Given the description of an element on the screen output the (x, y) to click on. 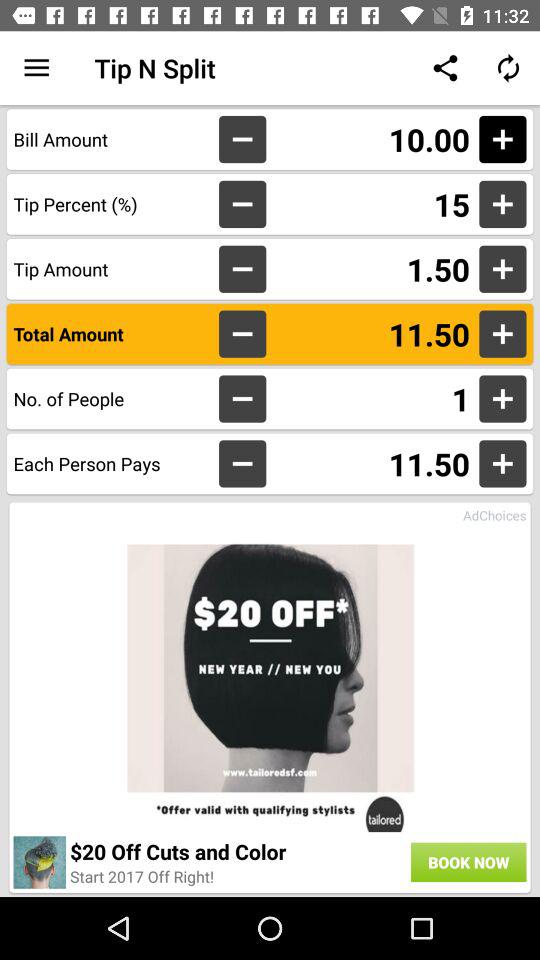
choose icon next to book now icon (238, 851)
